Given the description of an element on the screen output the (x, y) to click on. 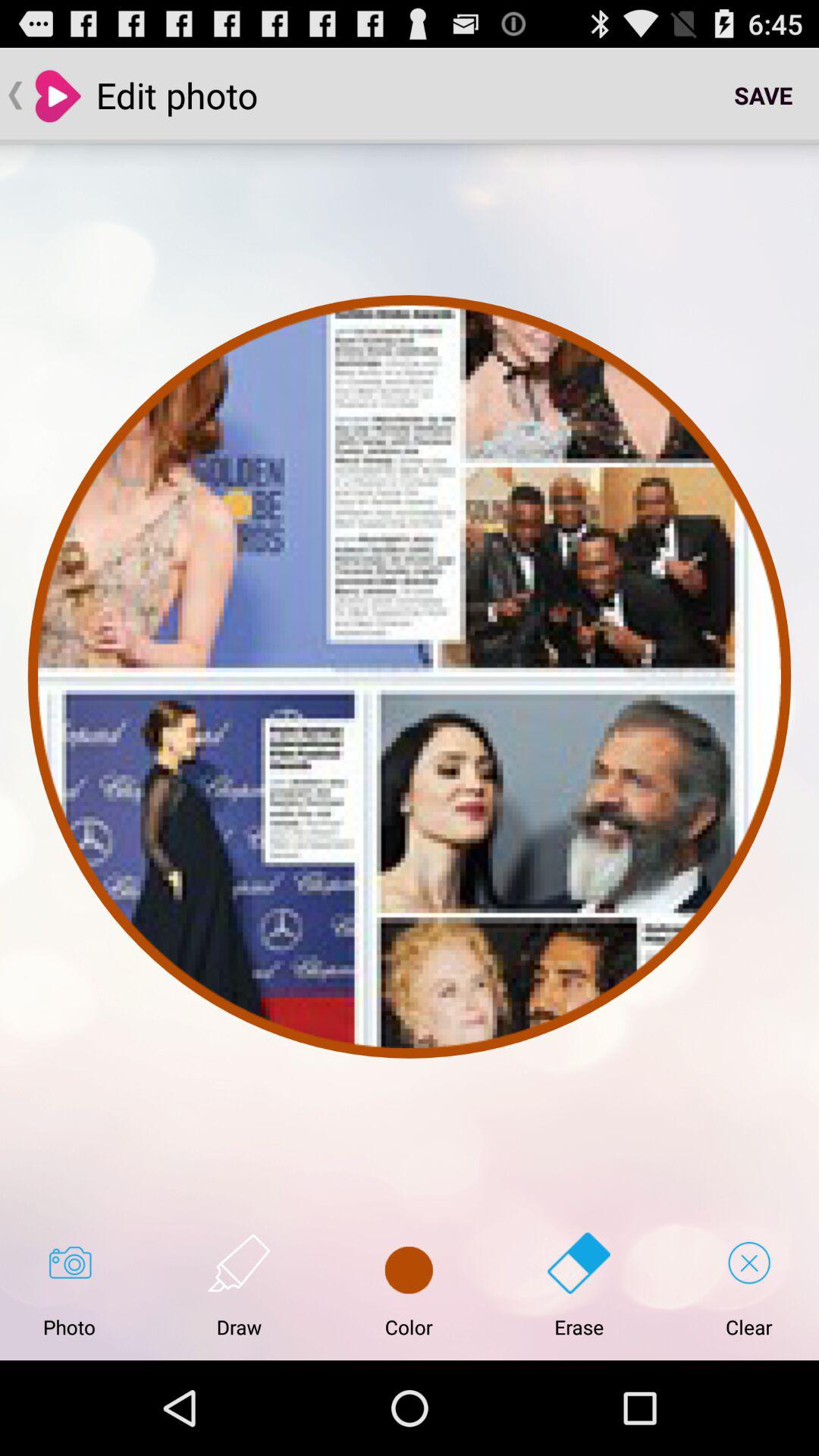
press the button next to the color item (238, 1285)
